Given the description of an element on the screen output the (x, y) to click on. 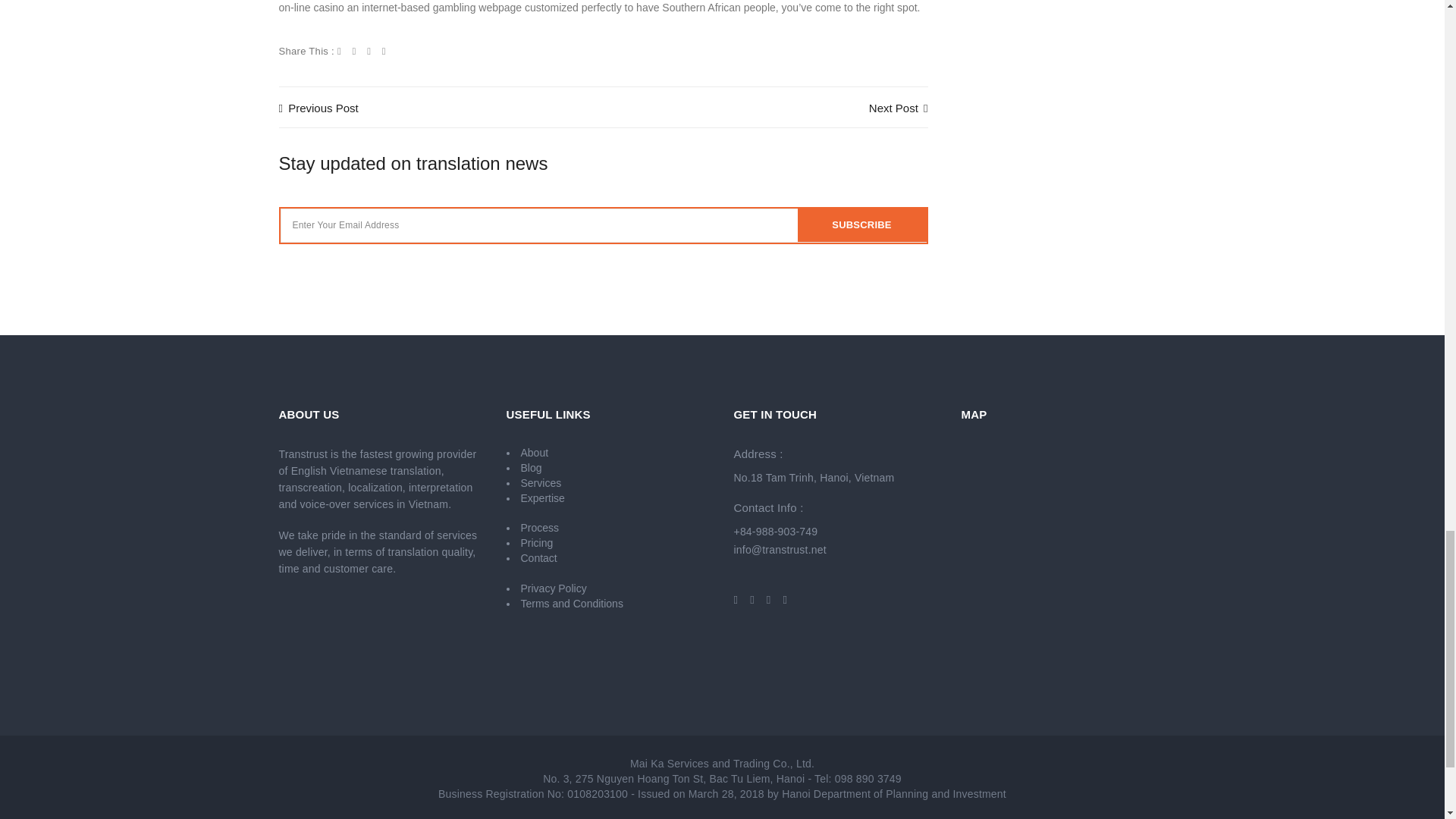
Subscribe (861, 225)
Previous Post (318, 107)
Subscribe (861, 225)
Uitgelezene Datingsites Recensies 2023 Die Echt Werken (318, 107)
Next Post (898, 107)
